Given the description of an element on the screen output the (x, y) to click on. 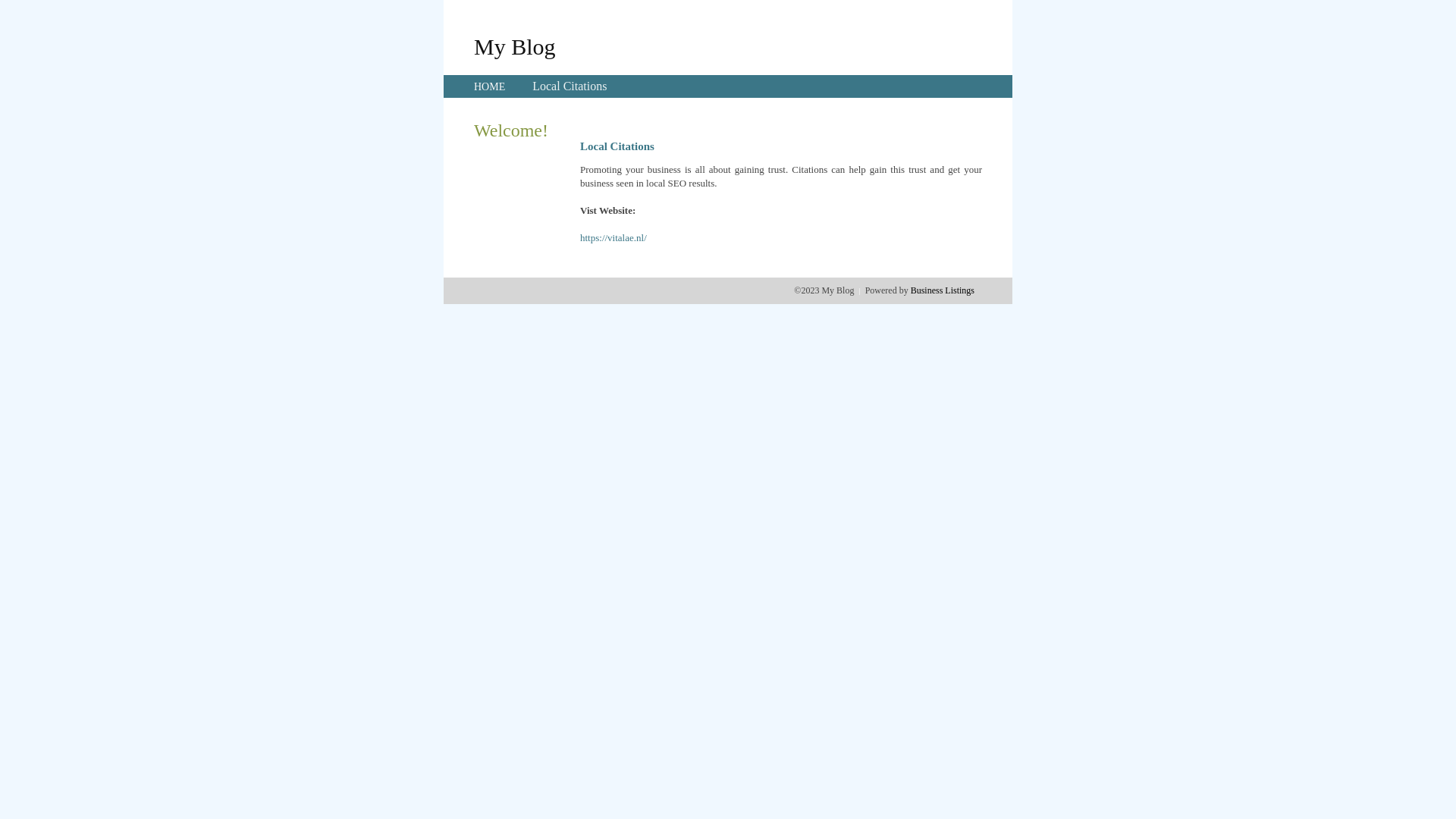
Business Listings Element type: text (942, 290)
HOME Element type: text (489, 86)
Local Citations Element type: text (569, 85)
https://vitalae.nl/ Element type: text (613, 237)
My Blog Element type: text (514, 46)
